Given the description of an element on the screen output the (x, y) to click on. 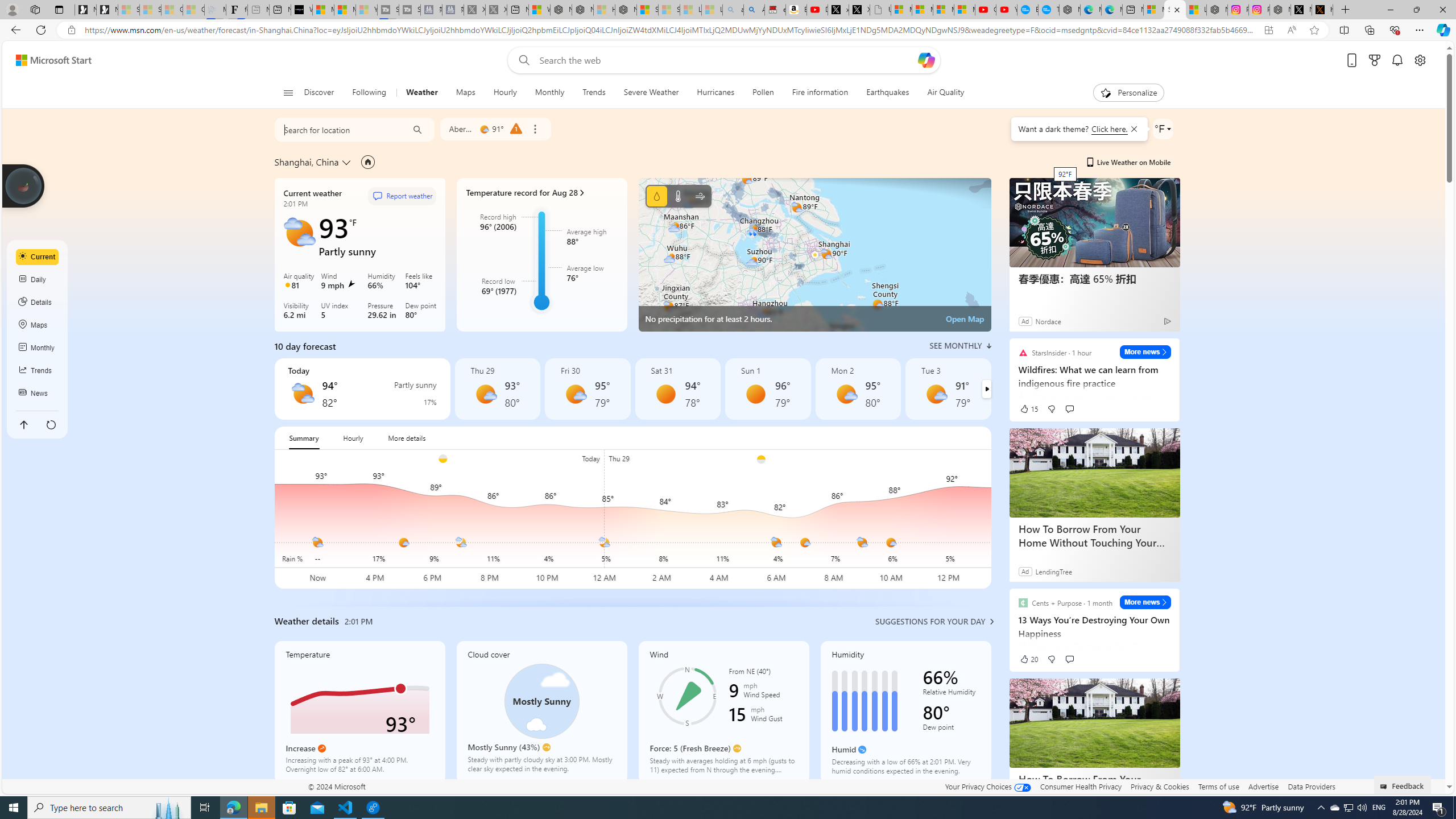
Terms of use (1218, 785)
Set as primary location (367, 161)
Join us in planting real trees to help our planet! (23, 185)
Air quality 81 (300, 282)
Humidity 66% (383, 282)
Pressure 29.62 in (383, 311)
Maps (465, 92)
